Given the description of an element on the screen output the (x, y) to click on. 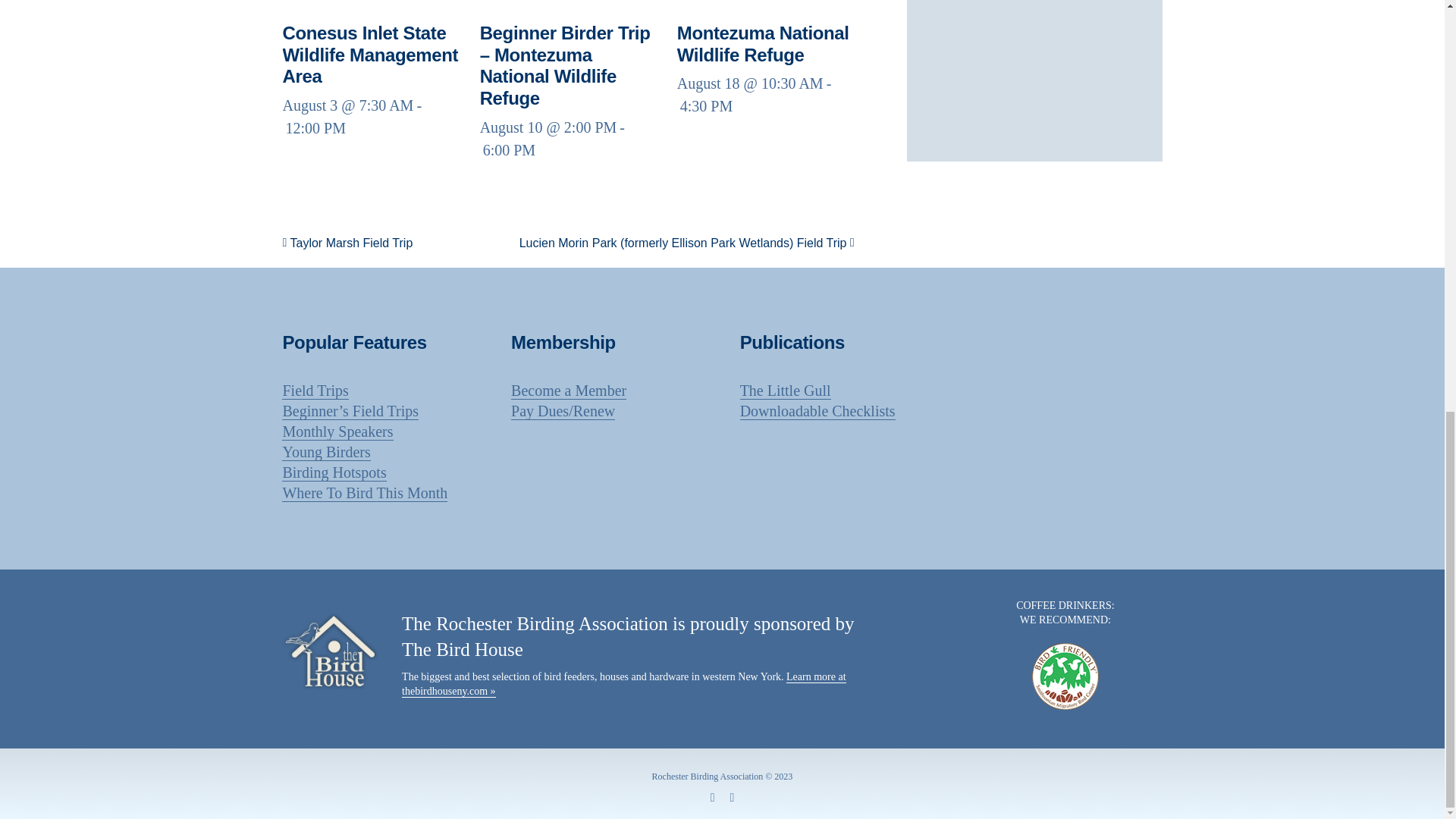
birdhouse-logo-150 (330, 651)
birdfriendlycoffeelogo (1065, 676)
